Given the description of an element on the screen output the (x, y) to click on. 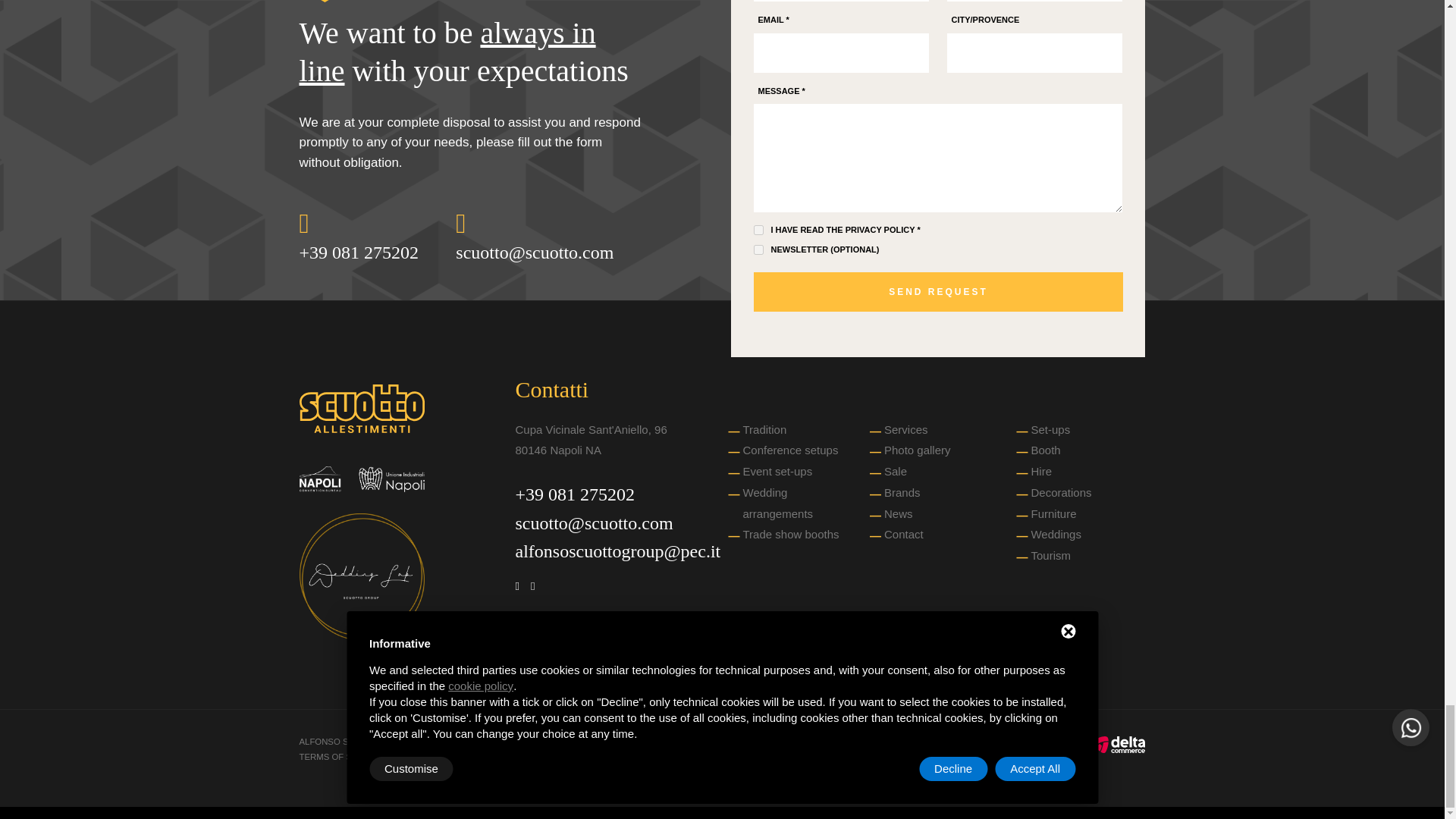
true (758, 230)
1 (758, 249)
